Given the description of an element on the screen output the (x, y) to click on. 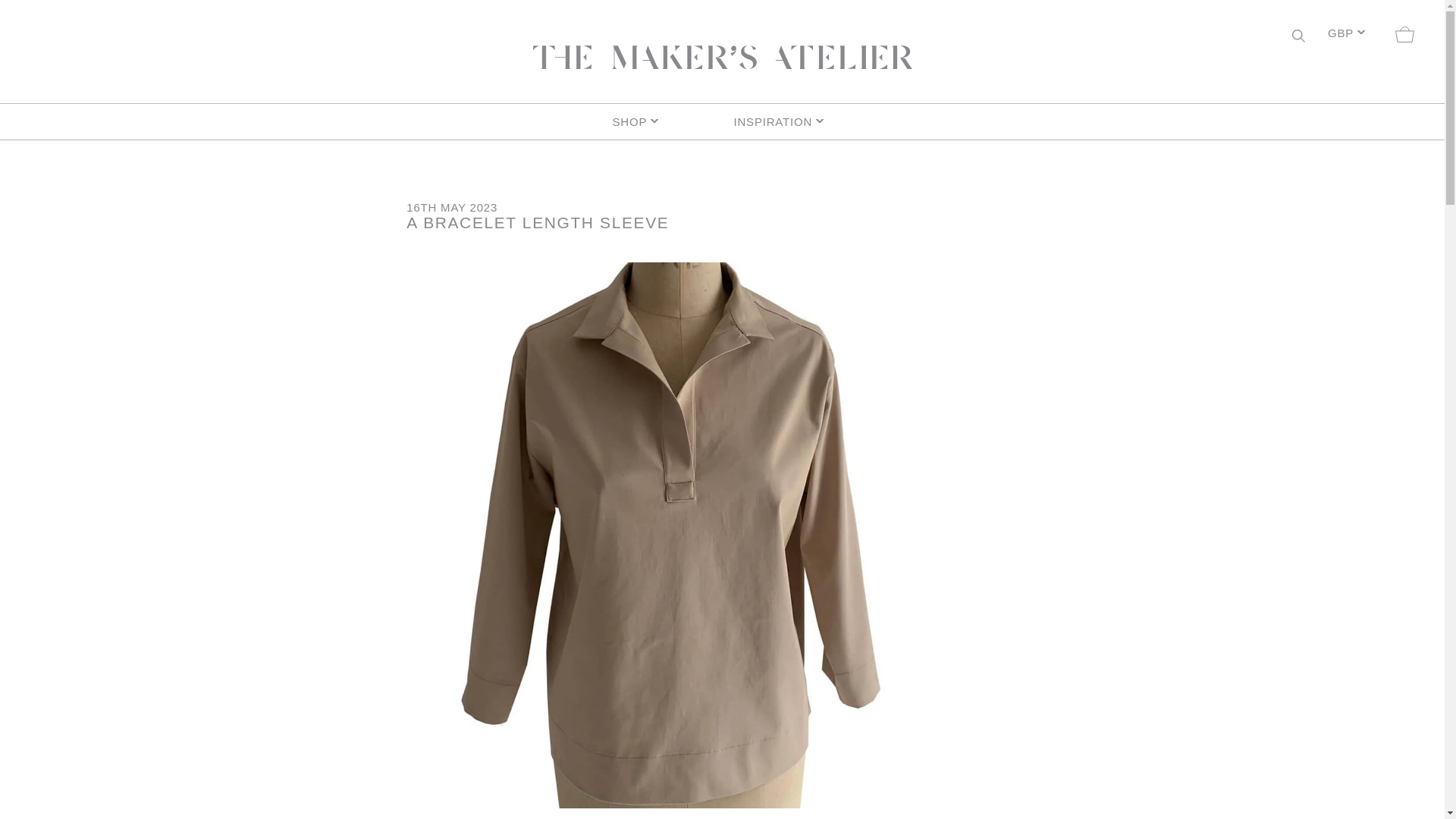
SHOP (660, 121)
INSPIRATION (782, 121)
GBP (1345, 34)
